Given the description of an element on the screen output the (x, y) to click on. 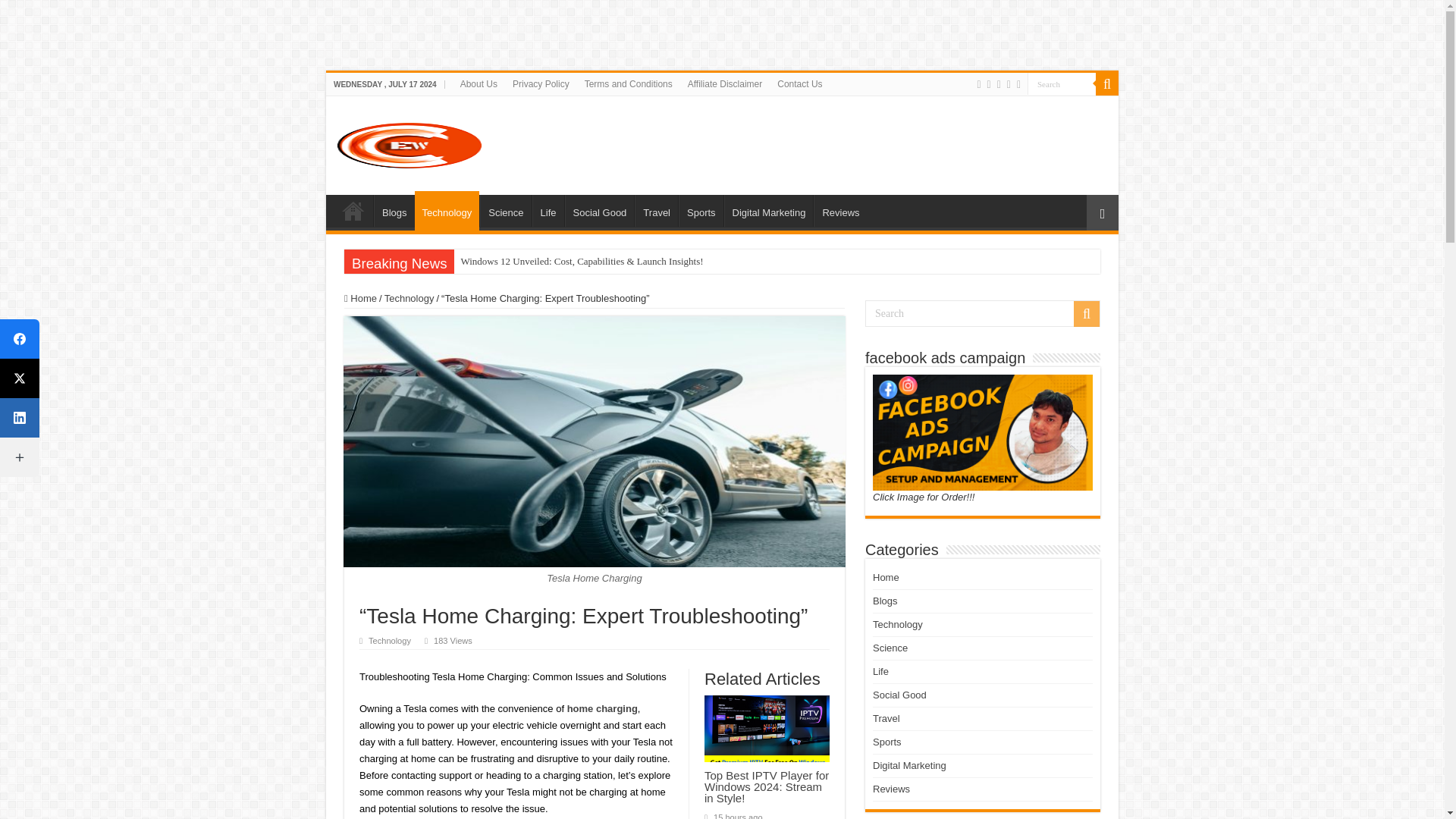
Search (1107, 83)
Life (548, 210)
About Us (478, 83)
Blogs (394, 210)
Sports (700, 210)
Terms and Conditions (627, 83)
Privacy Policy (540, 83)
Reviews (839, 210)
Search (1061, 83)
Search (1061, 83)
Contact Us (799, 83)
Technology (447, 210)
Digital Marketing (768, 210)
Advertisement (275, 33)
Travel (656, 210)
